Given the description of an element on the screen output the (x, y) to click on. 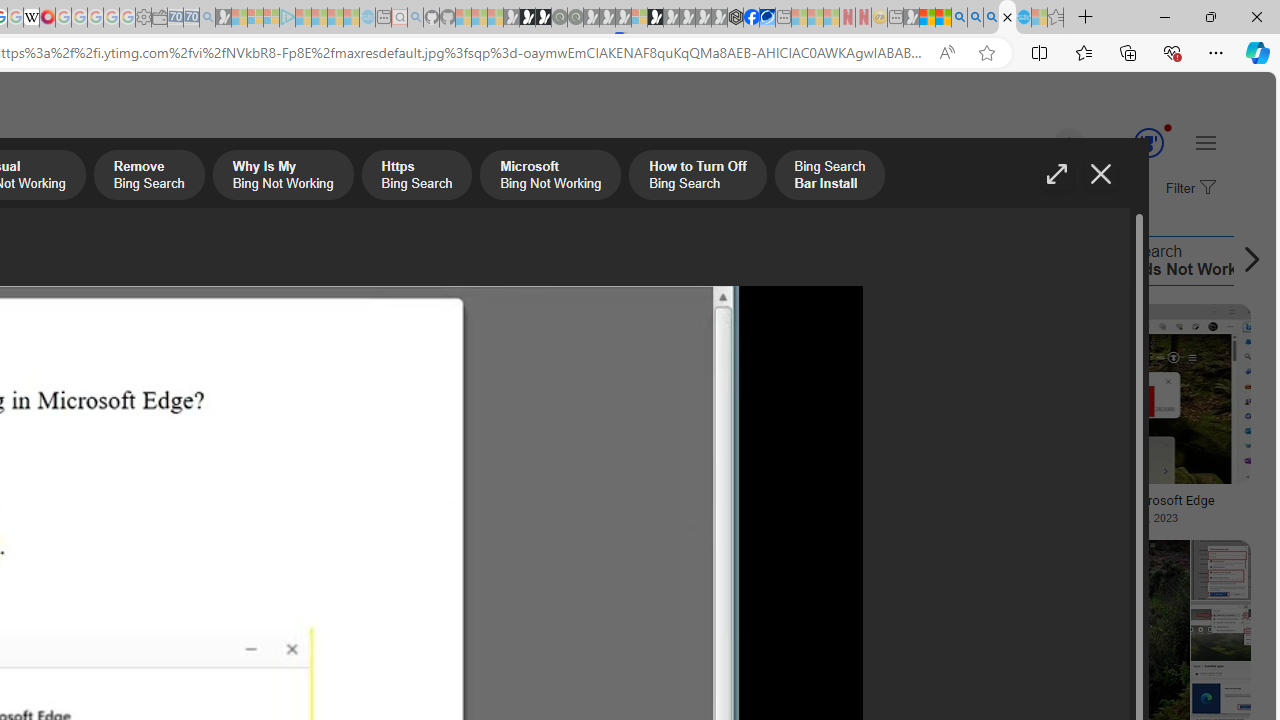
Bing Bong Plush Toy (134, 434)
Eugene (1041, 143)
How to Turn Off Bing Search (340, 260)
Bing Crosby Christmas Album (134, 373)
Https Bing Search (416, 177)
How to Turn Off Bing Search (268, 260)
Favorites - Sleeping (1055, 17)
AutomationID: serp_medal_svg (1148, 142)
